Given the description of an element on the screen output the (x, y) to click on. 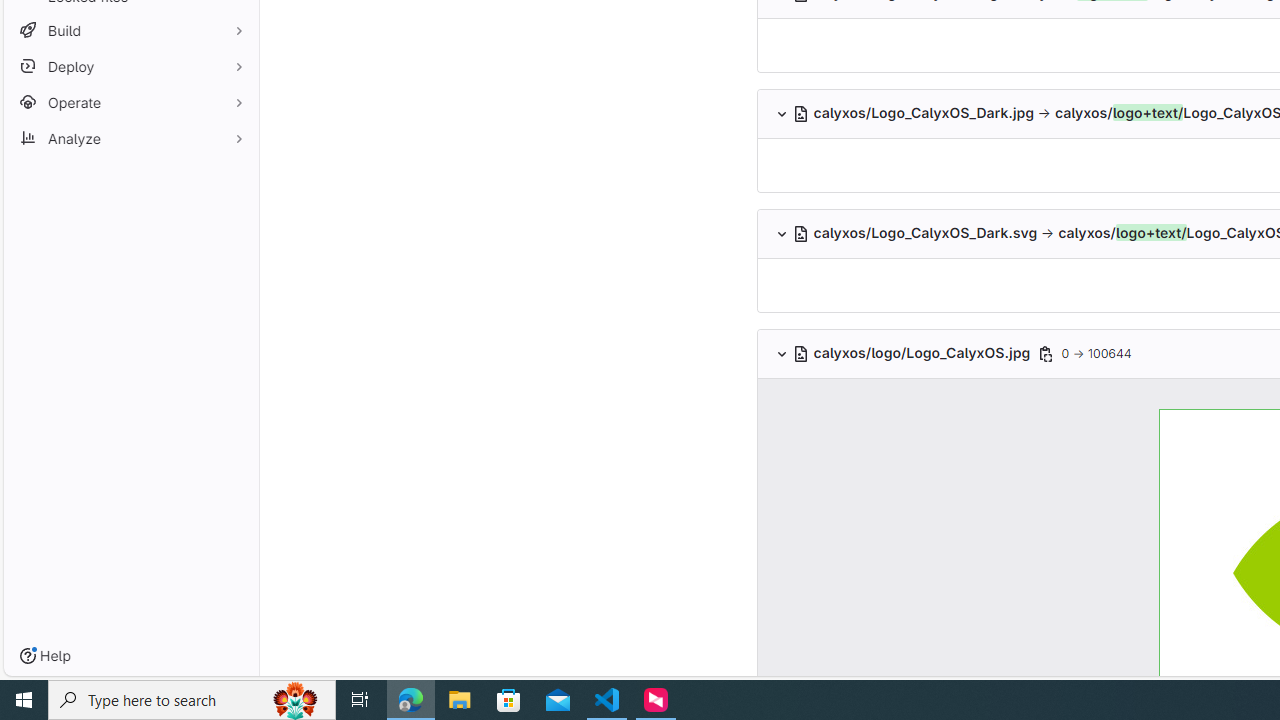
Class: s16 (801, 354)
Operate (130, 101)
Class: s16 gl-icon gl-button-icon  (1044, 354)
Class: s16 chevron-down (781, 354)
Analyze (130, 137)
calyxos/logo/Logo_CalyxOS.jpg  (913, 353)
Build (130, 29)
Deploy (130, 65)
Build (130, 29)
Operate (130, 101)
Copy file path (1045, 354)
Analyze (130, 137)
Deploy (130, 65)
